Given the description of an element on the screen output the (x, y) to click on. 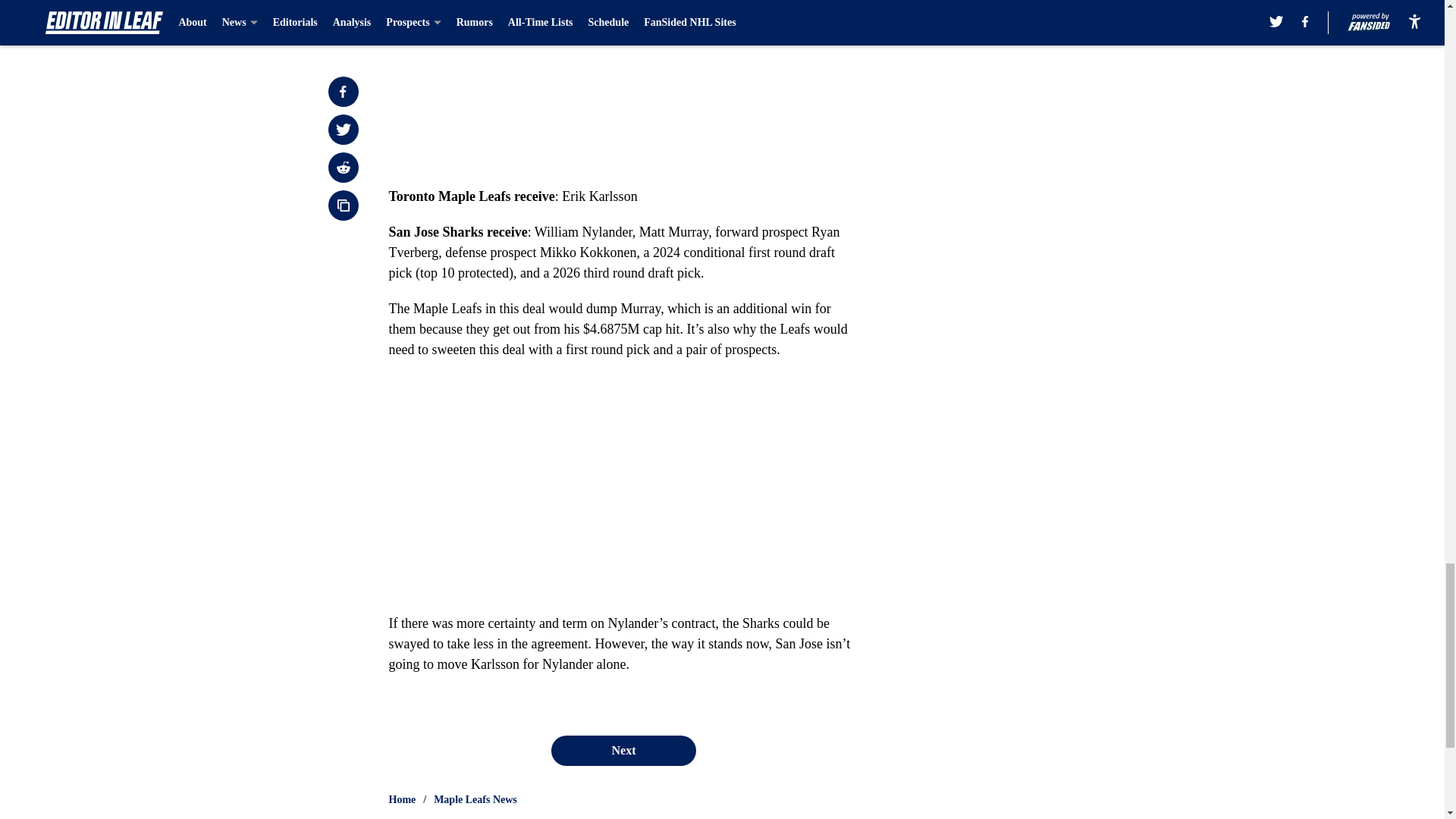
Next (622, 750)
Maple Leafs News (474, 799)
Home (401, 799)
